Given the description of an element on the screen output the (x, y) to click on. 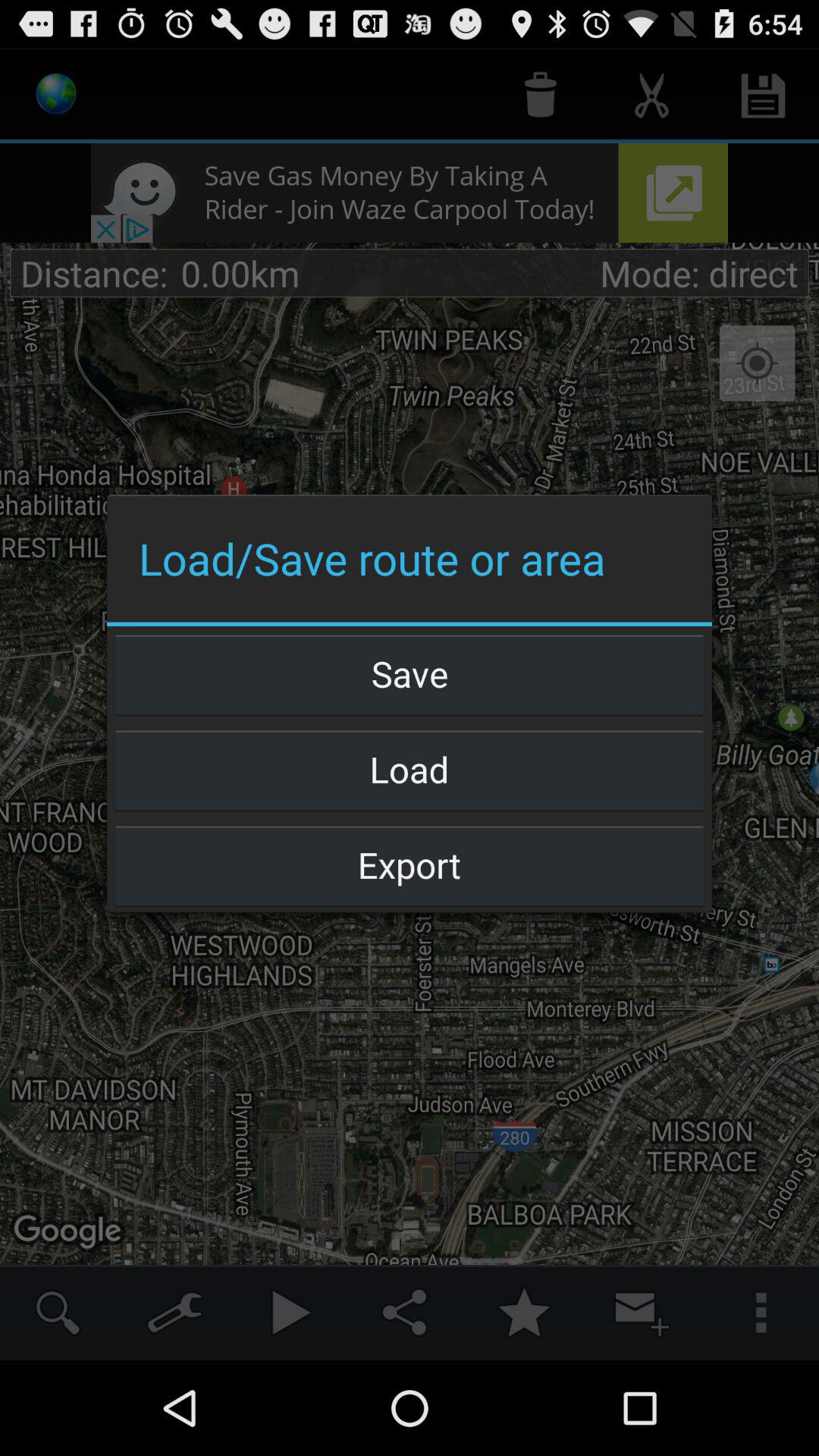
click on the location tracking icon (757, 363)
select tool button which is after search button (175, 1312)
click on first icon from the bottom right corner (760, 1312)
select save icon which is at the top right side of the page (763, 95)
